Given the description of an element on the screen output the (x, y) to click on. 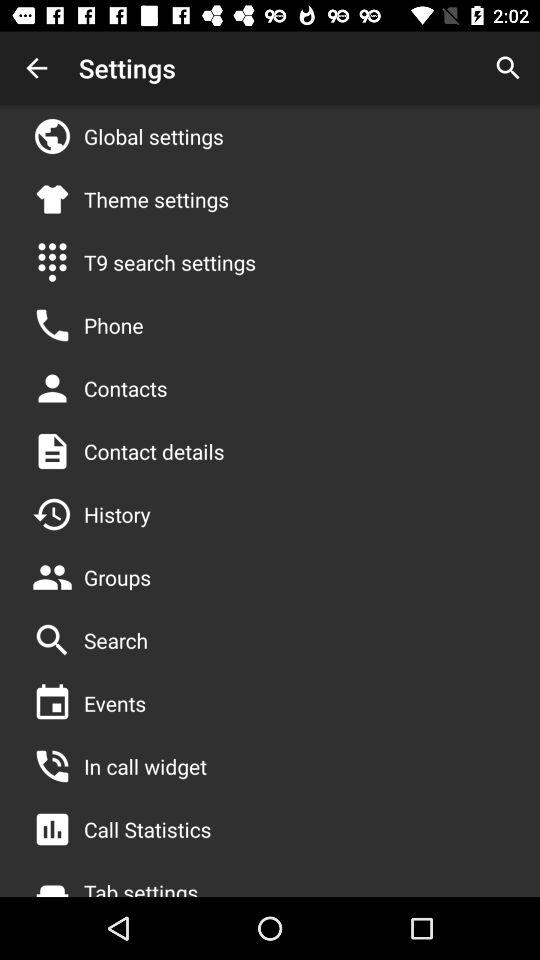
launch the app above the tab settings icon (147, 829)
